Given the description of an element on the screen output the (x, y) to click on. 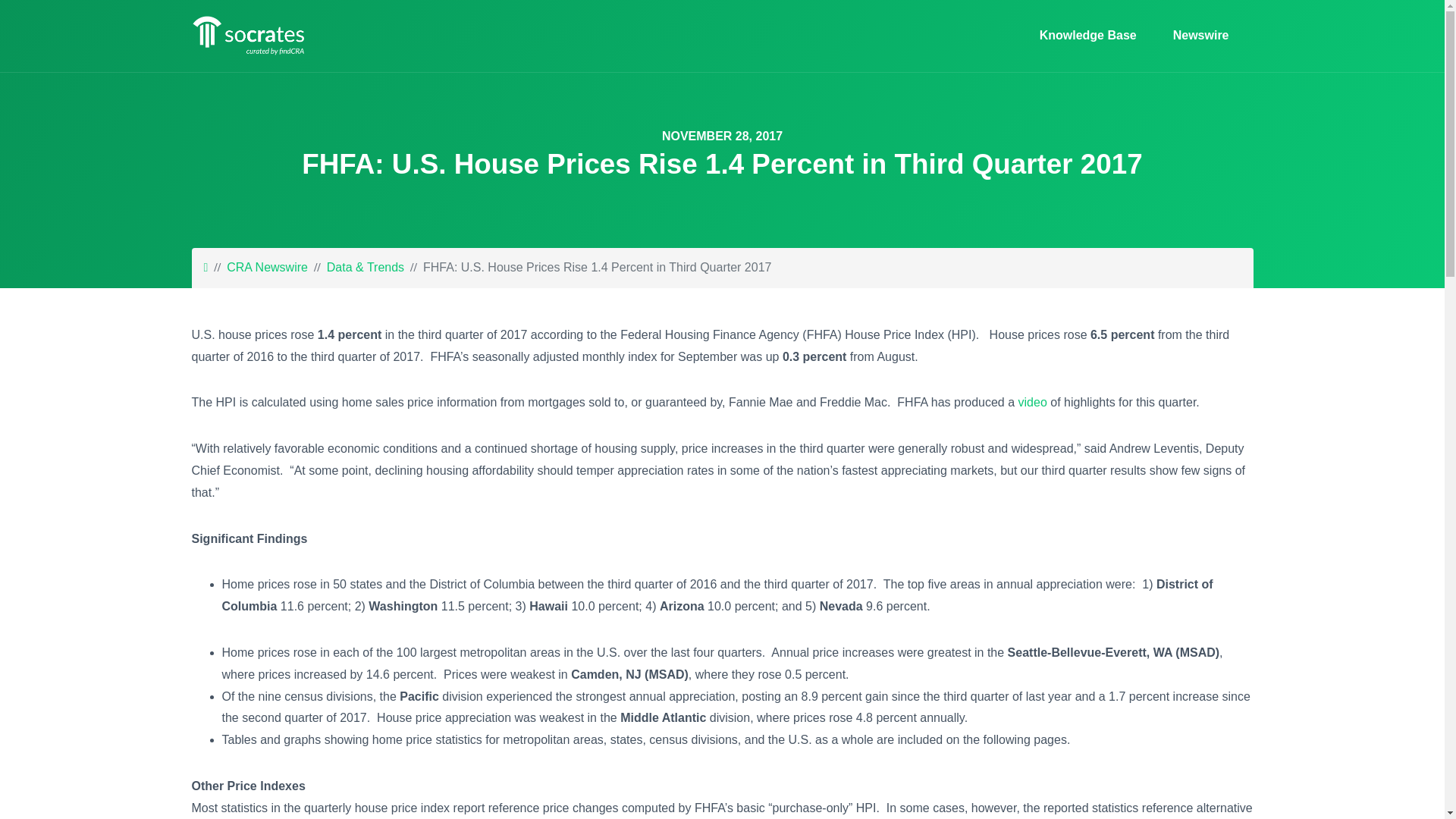
video (1031, 401)
Newswire (1194, 35)
Knowledge Base (1087, 35)
CRA Newswire (267, 267)
Link goes to an external web page. (1031, 401)
